Given the description of an element on the screen output the (x, y) to click on. 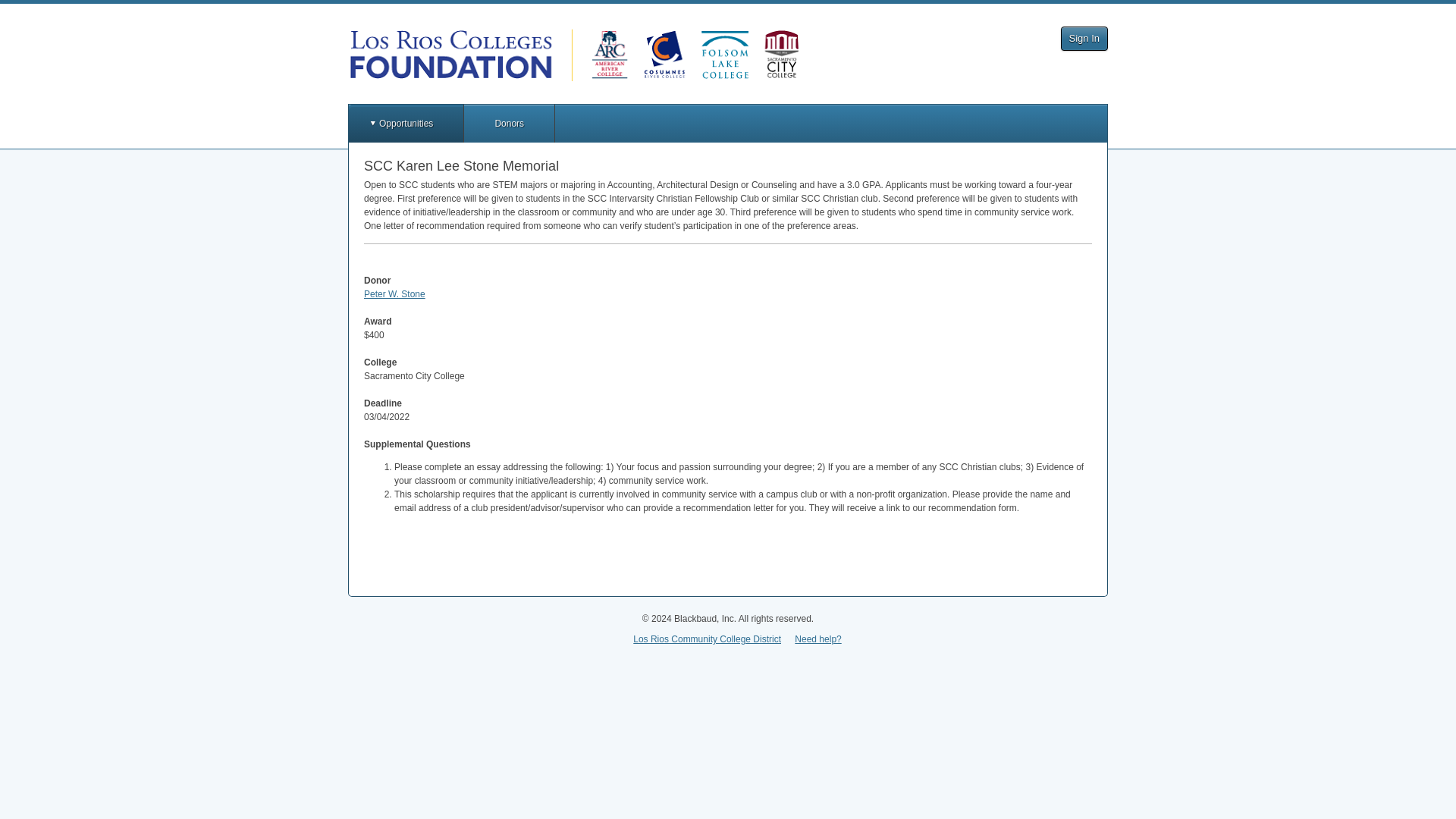
Sign In (1084, 38)
Need help? (817, 638)
Donors (509, 123)
Opportunities (406, 123)
Los Rios Community College District (706, 638)
Peter W. Stone (394, 294)
Los Rios Community College District Scholarships  (575, 55)
